Given the description of an element on the screen output the (x, y) to click on. 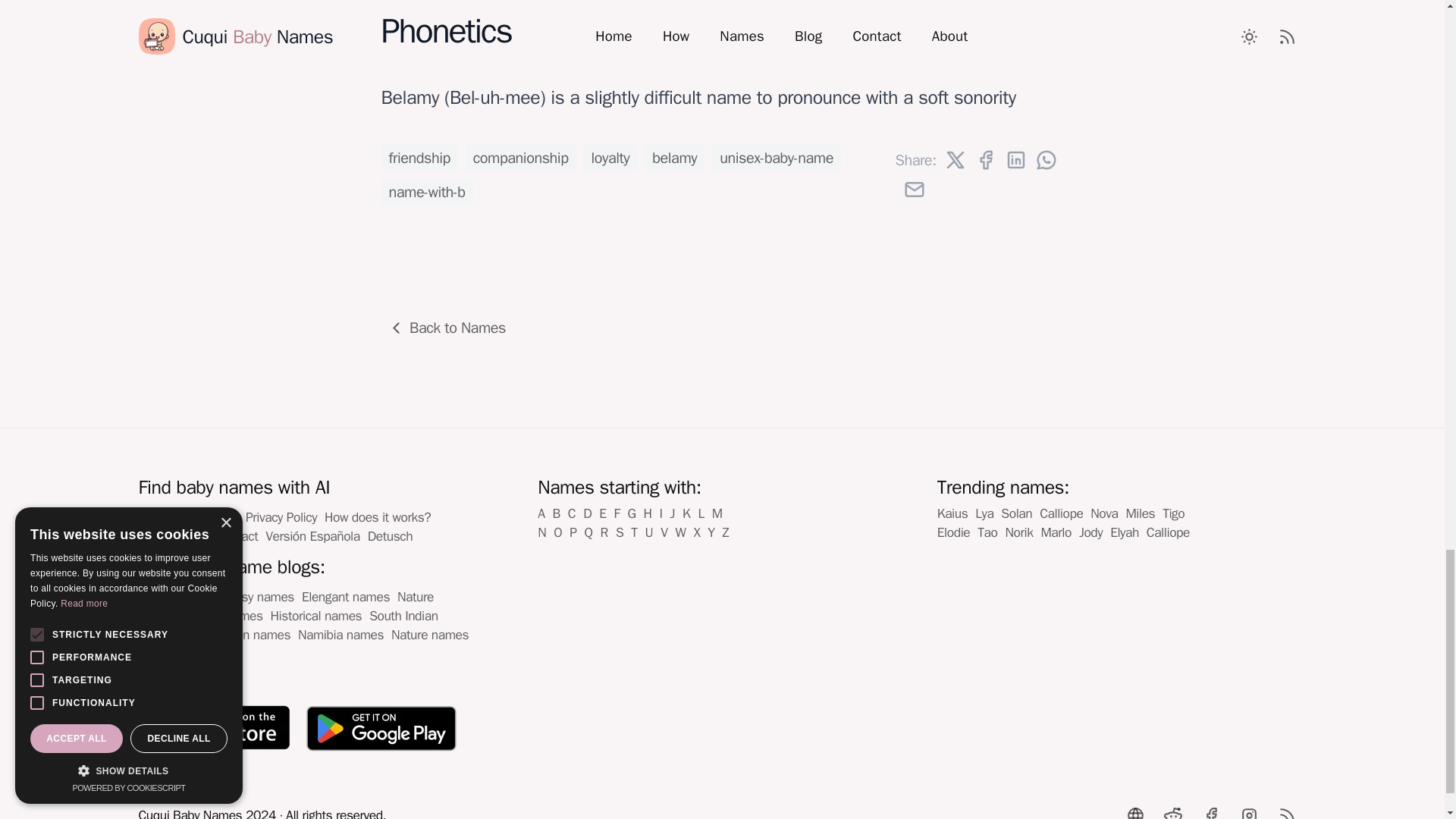
Email Share (914, 189)
Back to Names (448, 327)
My Names (167, 516)
Twitter Share (954, 159)
companionship (521, 157)
Contact (236, 535)
Find baby names with AI (234, 487)
Linkedin Share (1015, 159)
friendship (418, 157)
Privacy Policy (281, 516)
belamy (674, 157)
How does it works? (377, 516)
Terms (220, 516)
Names (157, 535)
loyalty (609, 157)
